Given the description of an element on the screen output the (x, y) to click on. 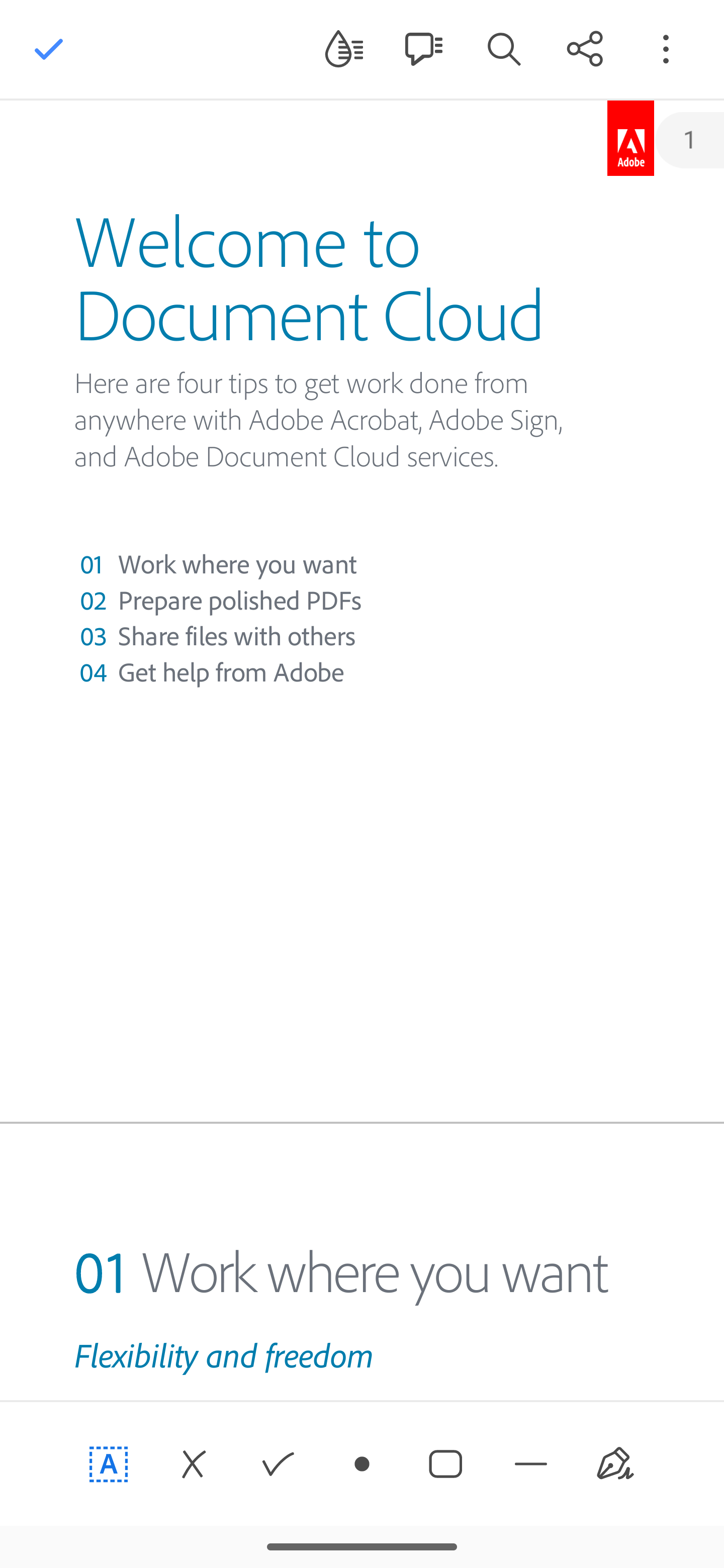
Done (49, 49)
Turn on Liquid Mode (343, 48)
Find keyword in document (503, 48)
Share this document with others (584, 48)
More options (665, 48)
Comments (423, 48)
Fill in form fields (108, 1464)
Add a crossmark (192, 1464)
Add a checkmark (277, 1464)
Add a filled dot (361, 1464)
Draw a rectangle with rounded corners (445, 1464)
Draw a line (530, 1464)
Add your signature or initials (615, 1464)
